Given the description of an element on the screen output the (x, y) to click on. 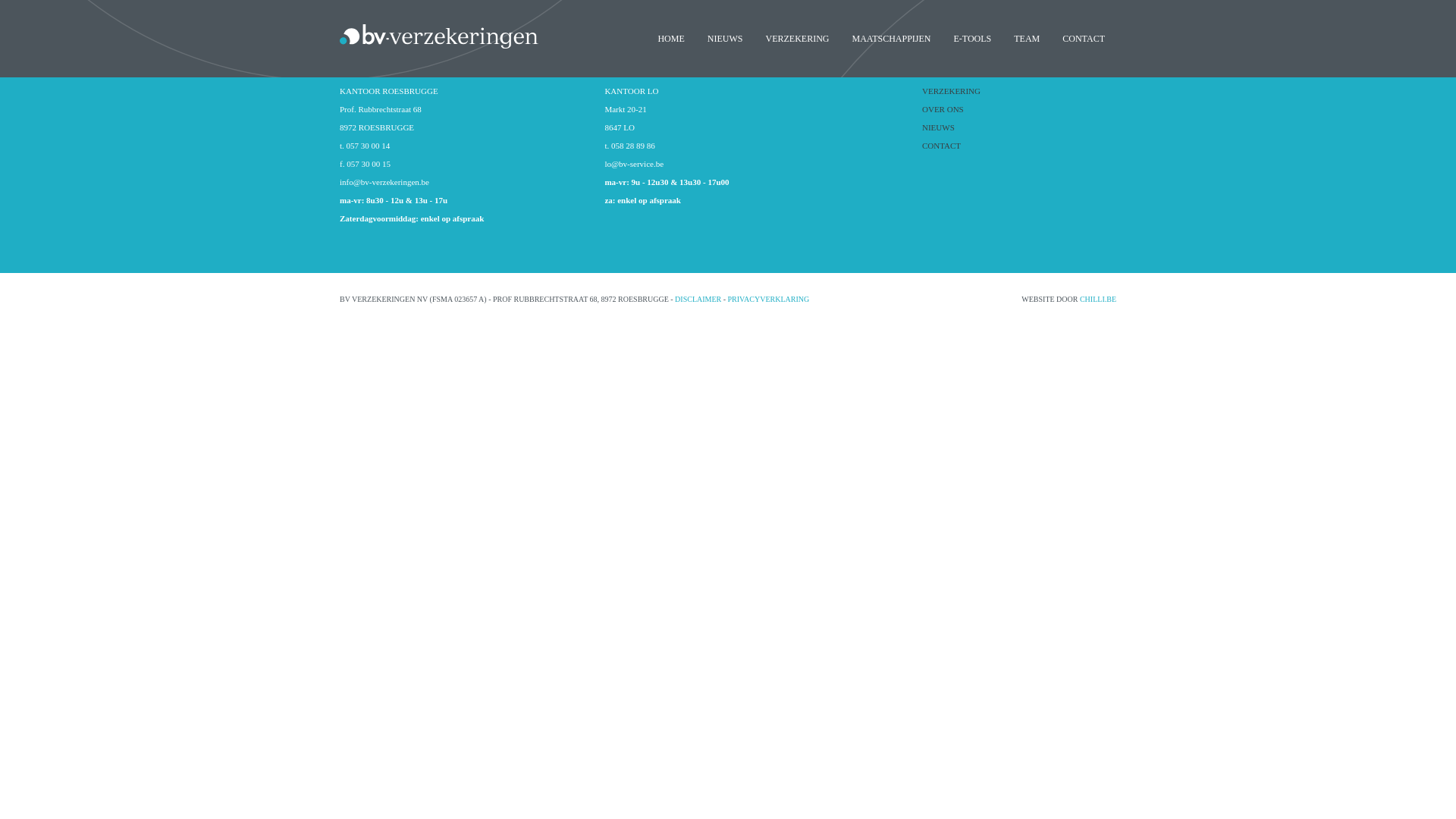
TEAM Element type: text (1026, 38)
E-TOOLS Element type: text (971, 38)
CONTACT Element type: text (1083, 38)
HOME Element type: text (670, 38)
info@bv-verzekeringen.be Element type: text (384, 181)
CHILLI.BE Element type: text (1097, 298)
PRIVACYVERKLARING Element type: text (768, 298)
NIEUWS Element type: text (725, 38)
VERZEKERING Element type: text (796, 38)
MAATSCHAPPIJEN Element type: text (890, 38)
CONTACT Element type: text (1019, 145)
lo@bv-service.be Element type: text (633, 163)
VERZEKERING Element type: text (1019, 90)
NIEUWS Element type: text (1019, 127)
OVER ONS Element type: text (1019, 109)
DISCLAIMER Element type: text (697, 298)
